Given the description of an element on the screen output the (x, y) to click on. 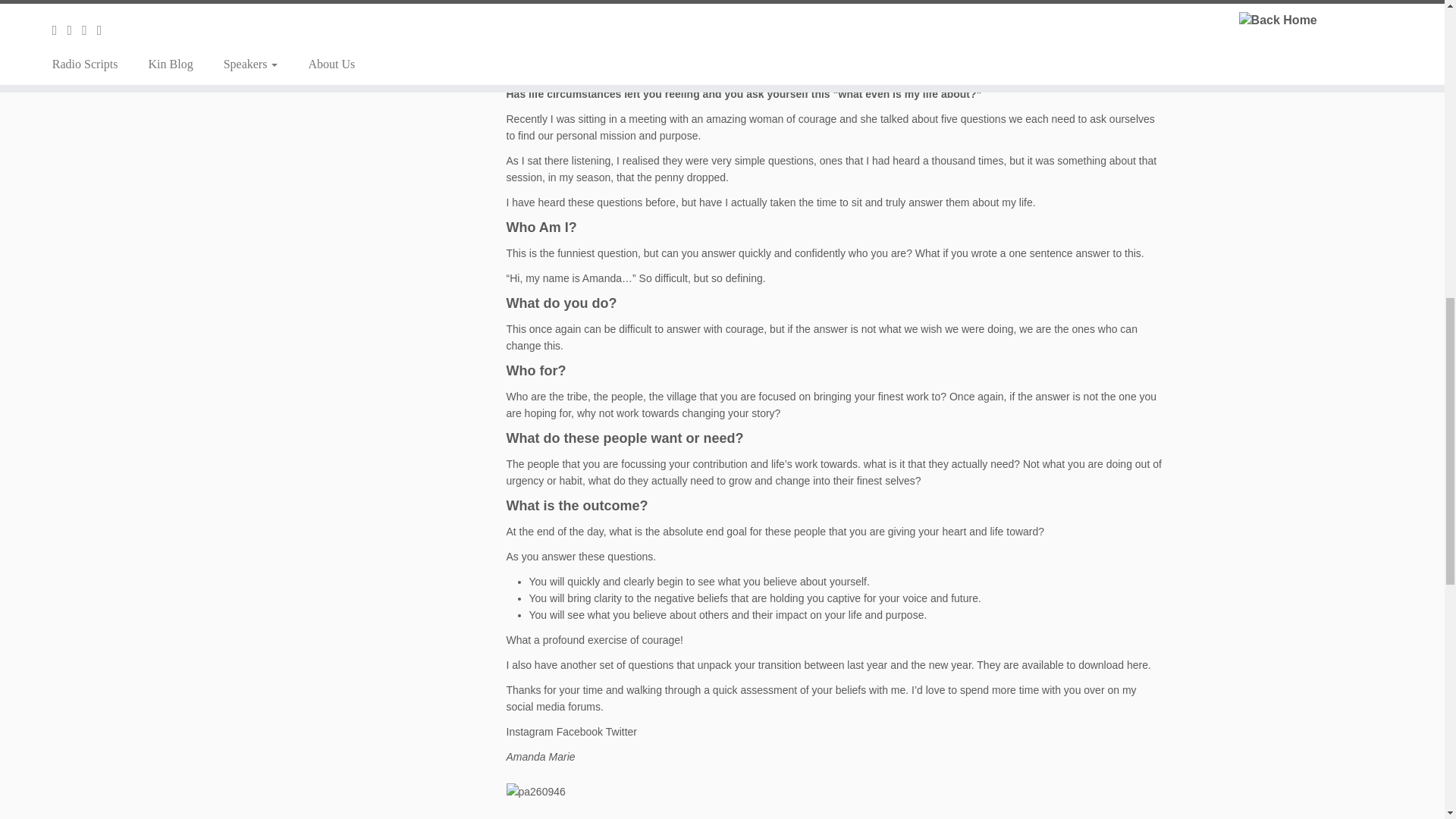
here (1137, 664)
Twitter (621, 731)
Facebook (579, 731)
Instagram (529, 731)
